Given the description of an element on the screen output the (x, y) to click on. 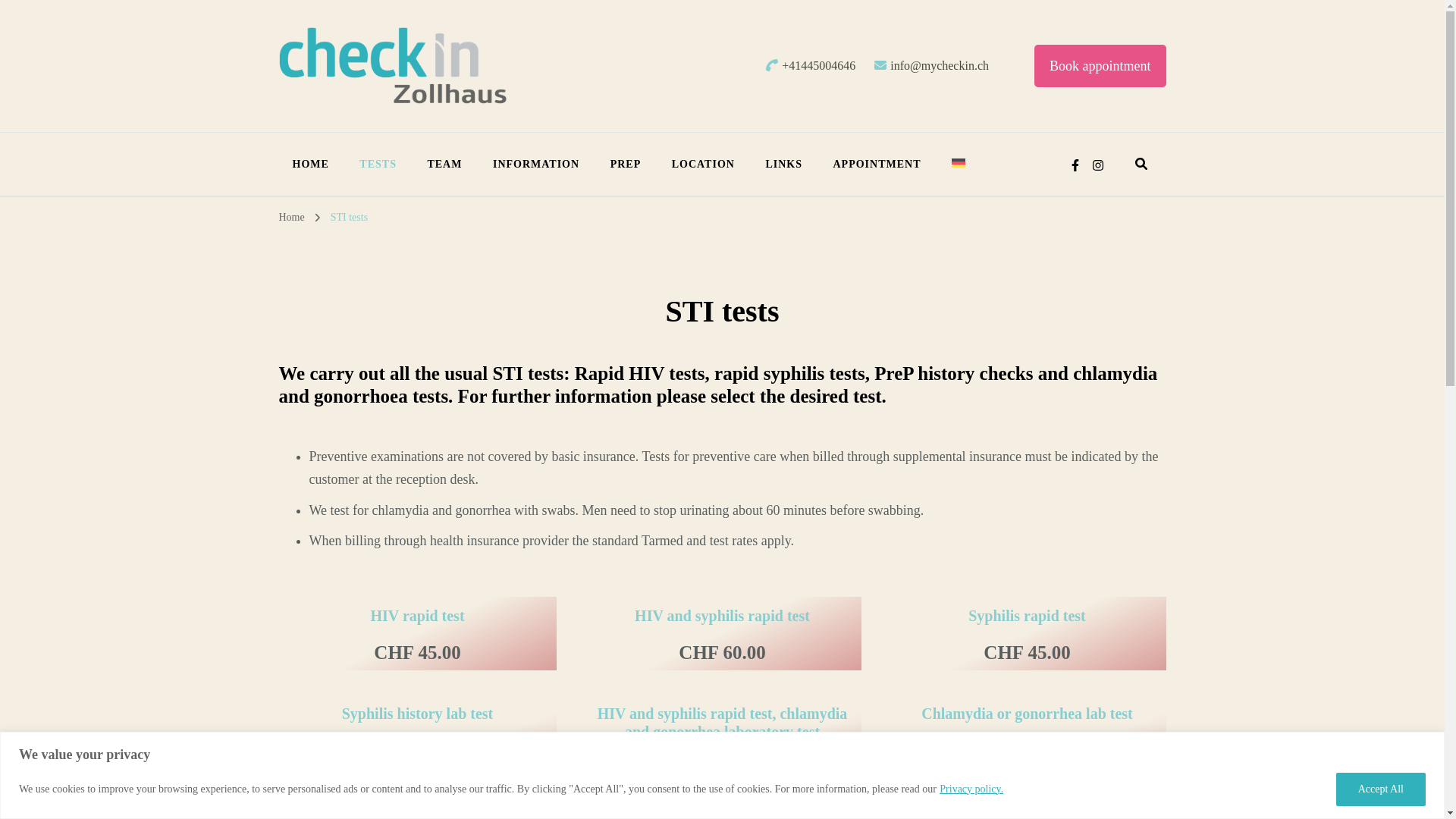
Privacy policy. (971, 788)
Book appointment (1099, 66)
TEAM (444, 164)
HOME (310, 164)
PREP (625, 164)
APPOINTMENT (876, 164)
LOCATION (703, 164)
INFORMATION (535, 164)
checkin Zollhaus (402, 125)
TESTS (378, 164)
LINKS (783, 164)
Accept All (1380, 788)
